Given the description of an element on the screen output the (x, y) to click on. 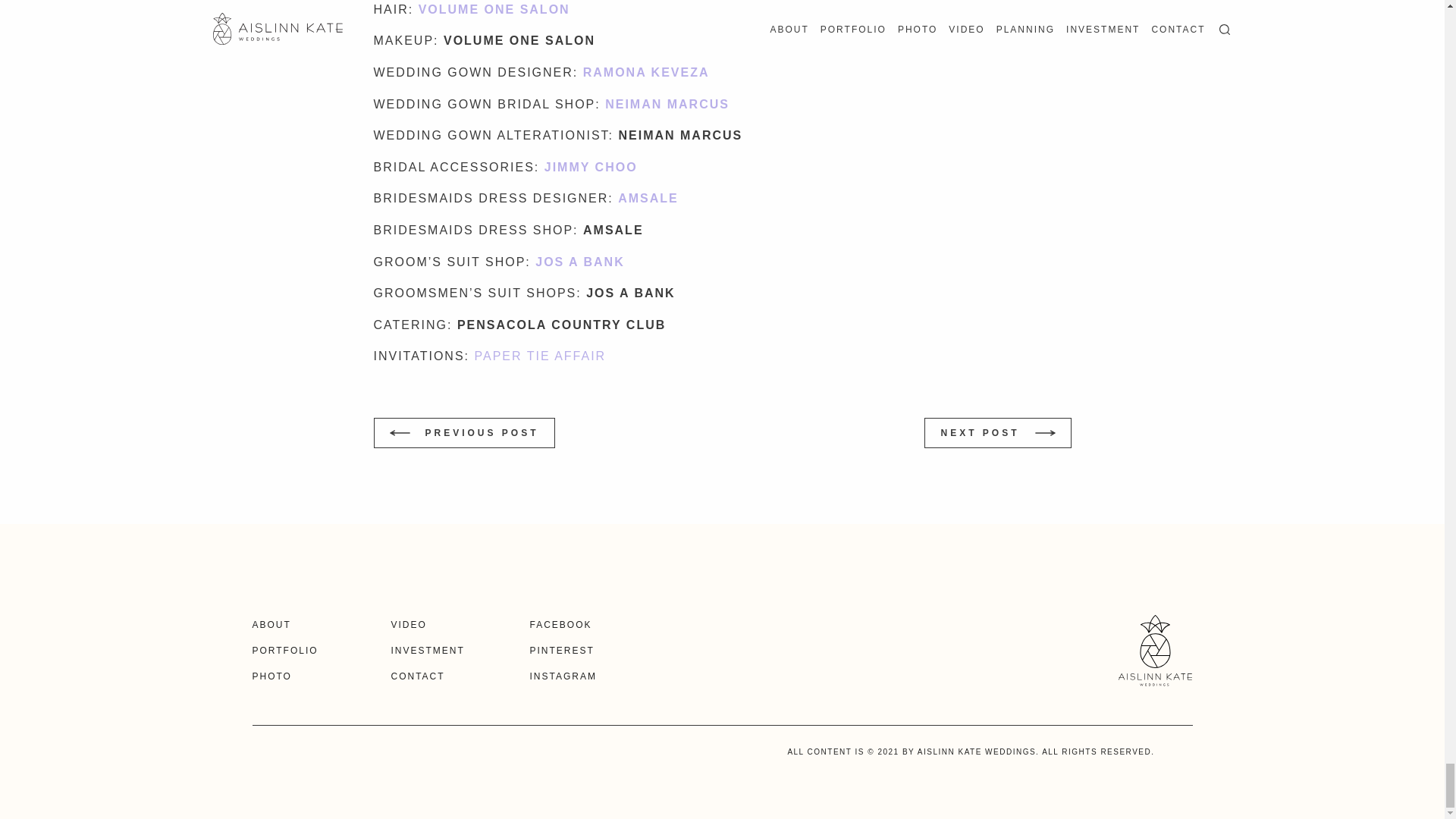
PINTEREST (561, 650)
PHOTO (271, 675)
JIMMY CHOO  (593, 166)
AMSALE (647, 197)
NEIMAN MARCUS (667, 103)
ABOUT (270, 624)
NEXT POST (997, 432)
INVESTMENT (427, 650)
RAMONA KEVEZA  (648, 72)
PAPER TIE AFFAIR (539, 355)
VOLUME ONE SALON (494, 9)
CONTACT (418, 675)
JOS A BANK (579, 261)
VIDEO (408, 624)
PREVIOUS POST (463, 432)
